Given the description of an element on the screen output the (x, y) to click on. 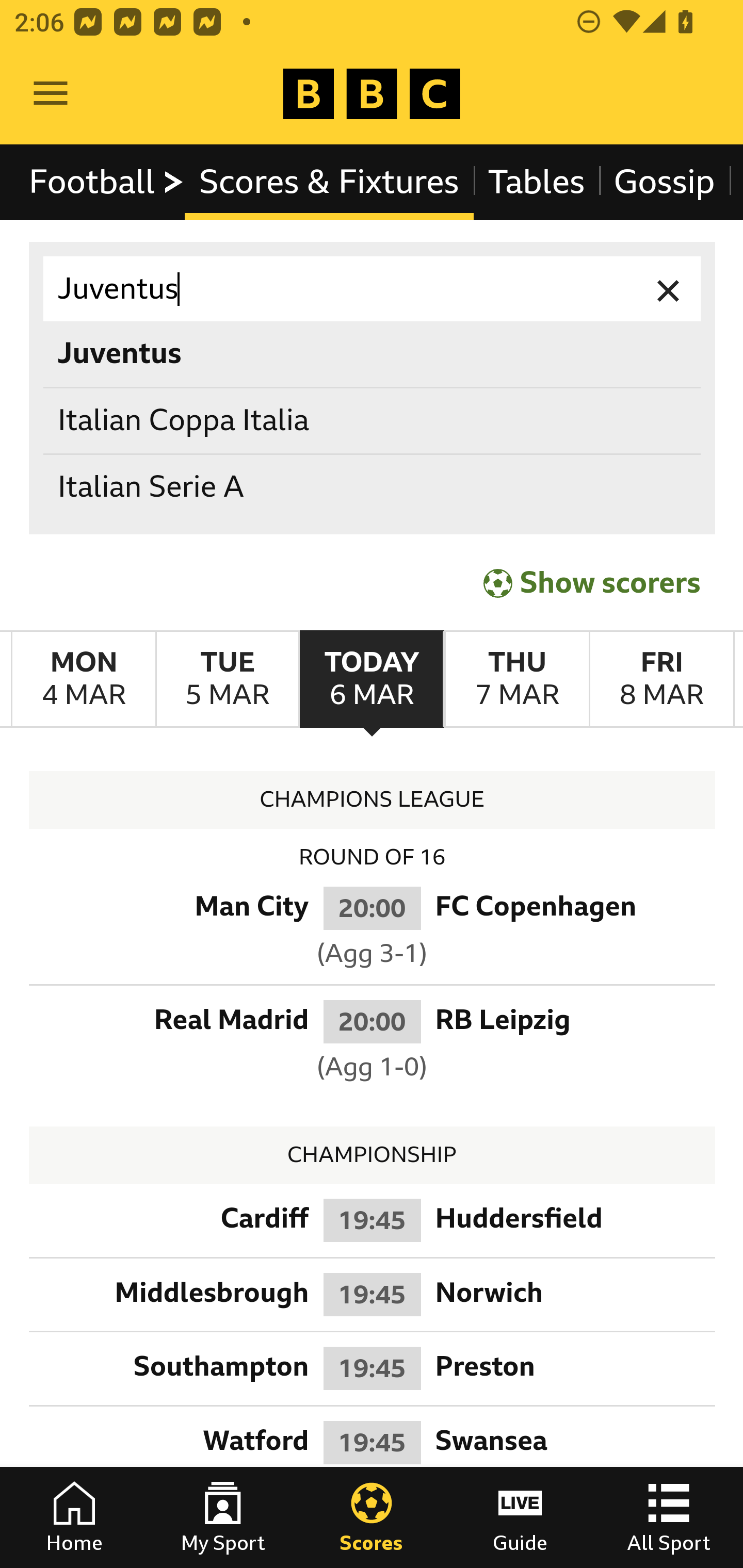
Open Menu (50, 93)
Football  (106, 181)
Scores & Fixtures (329, 181)
Tables (536, 181)
Gossip (664, 181)
Juventus (372, 289)
Clear input (669, 289)
Italian Coppa Italia (372, 419)
Italian Serie A (372, 488)
Show scorers (591, 582)
MondayMarch 4th Monday March 4th (83, 678)
TuesdayMarch 5th Tuesday March 5th (227, 678)
ThursdayMarch 7th Thursday March 7th (516, 678)
FridayMarch 8th Friday March 8th (661, 678)
Home (74, 1517)
My Sport (222, 1517)
Guide (519, 1517)
All Sport (668, 1517)
